Given the description of an element on the screen output the (x, y) to click on. 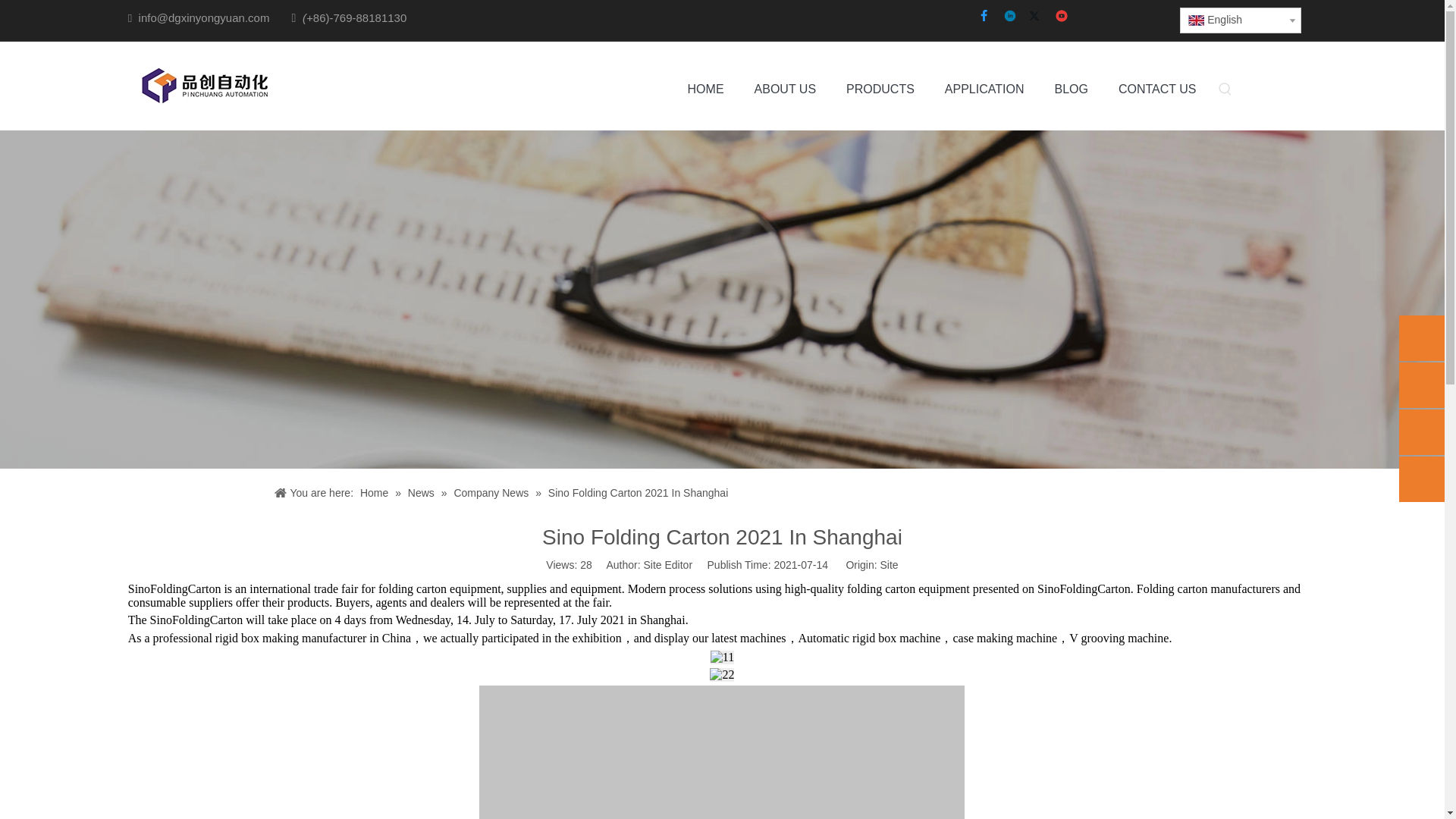
BLOG (1070, 89)
Facebook (984, 16)
Linkedin (1010, 16)
Twitter (1036, 16)
HOME (705, 89)
Youtube (1061, 16)
PRODUCTS (879, 89)
logo (203, 85)
APPLICATION (984, 89)
ABOUT US (785, 89)
